Given the description of an element on the screen output the (x, y) to click on. 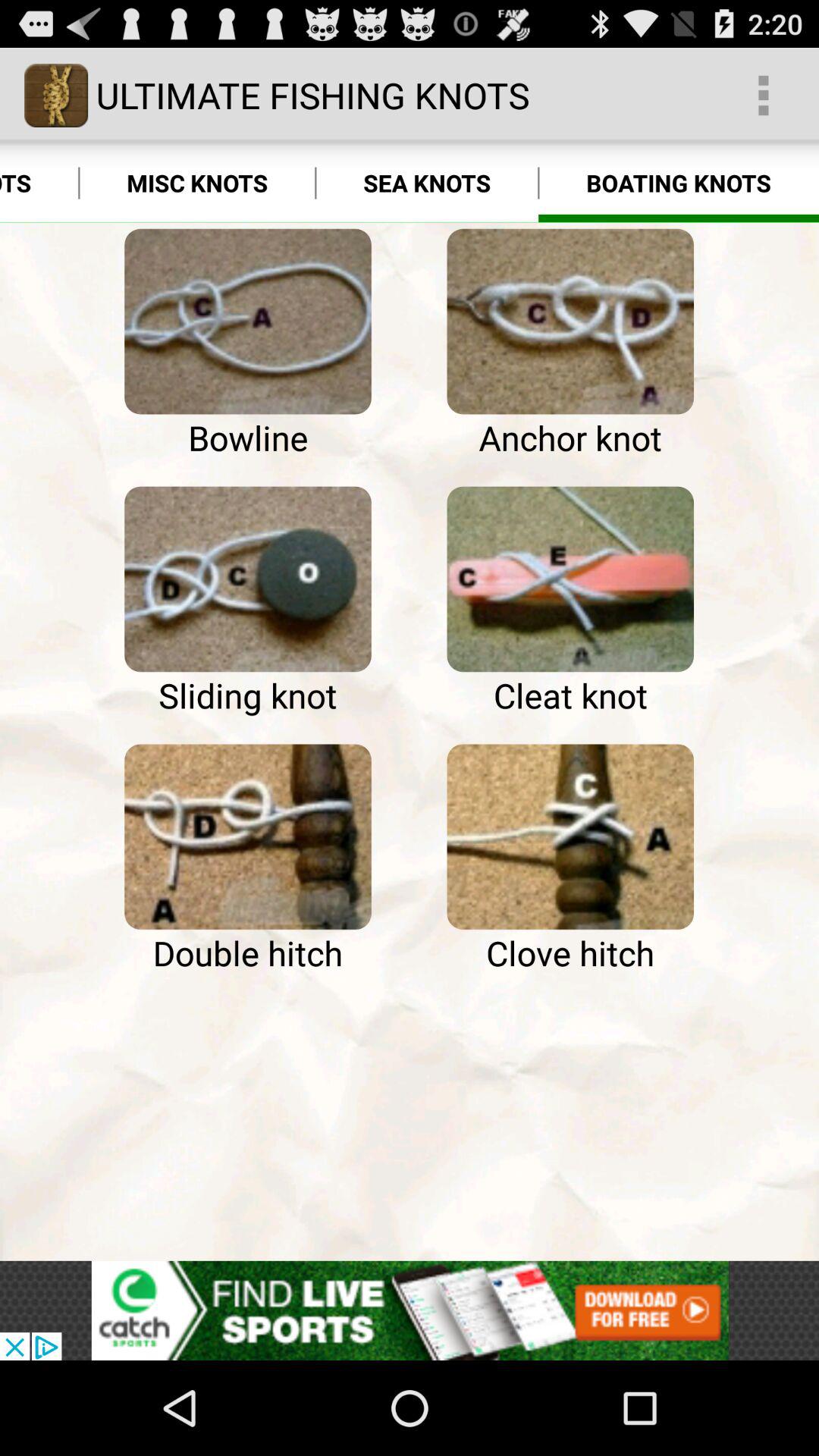
click to learn more (570, 578)
